Given the description of an element on the screen output the (x, y) to click on. 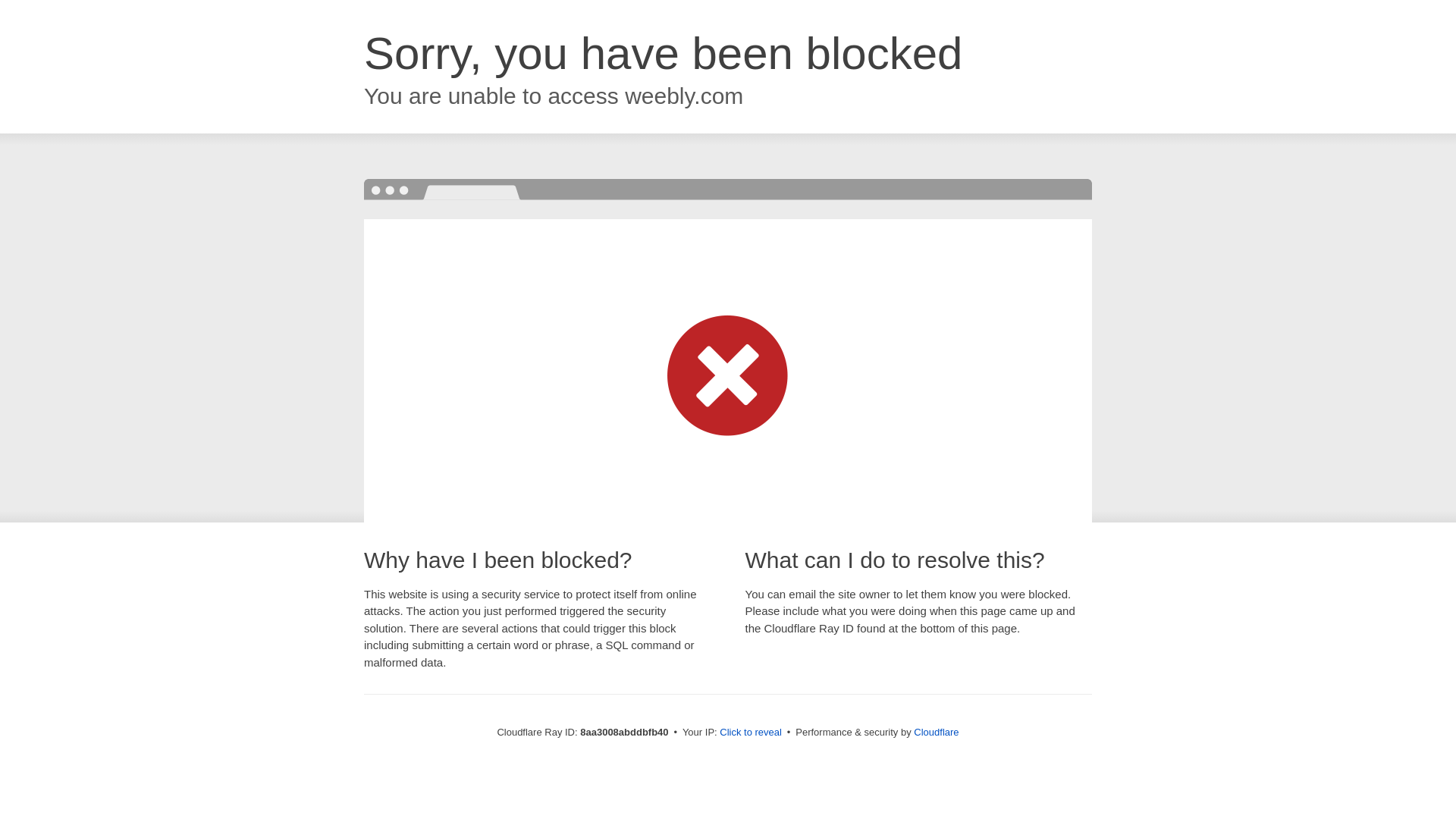
Click to reveal (750, 732)
Cloudflare (936, 731)
